Given the description of an element on the screen output the (x, y) to click on. 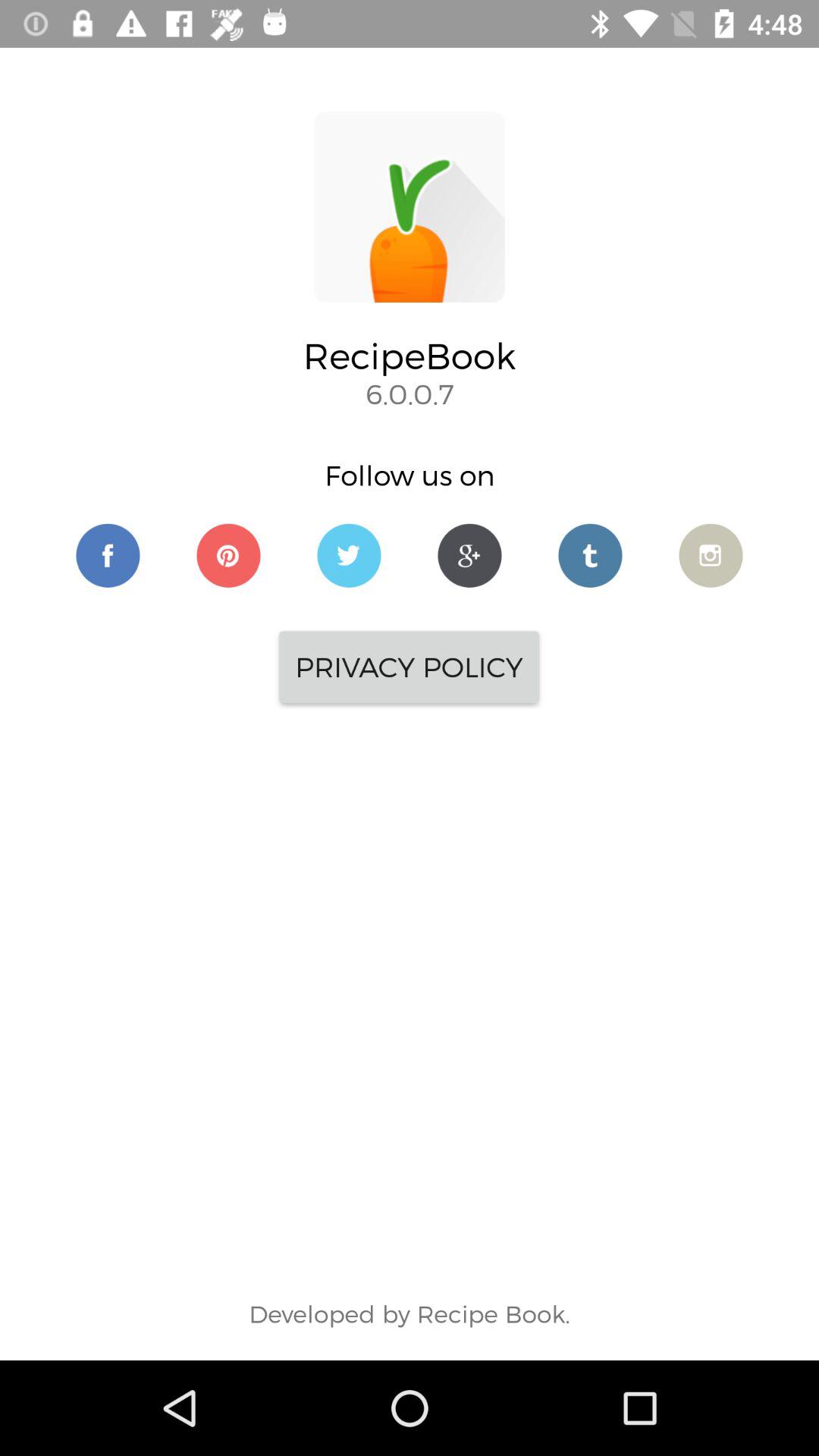
share to twitter (348, 555)
